Given the description of an element on the screen output the (x, y) to click on. 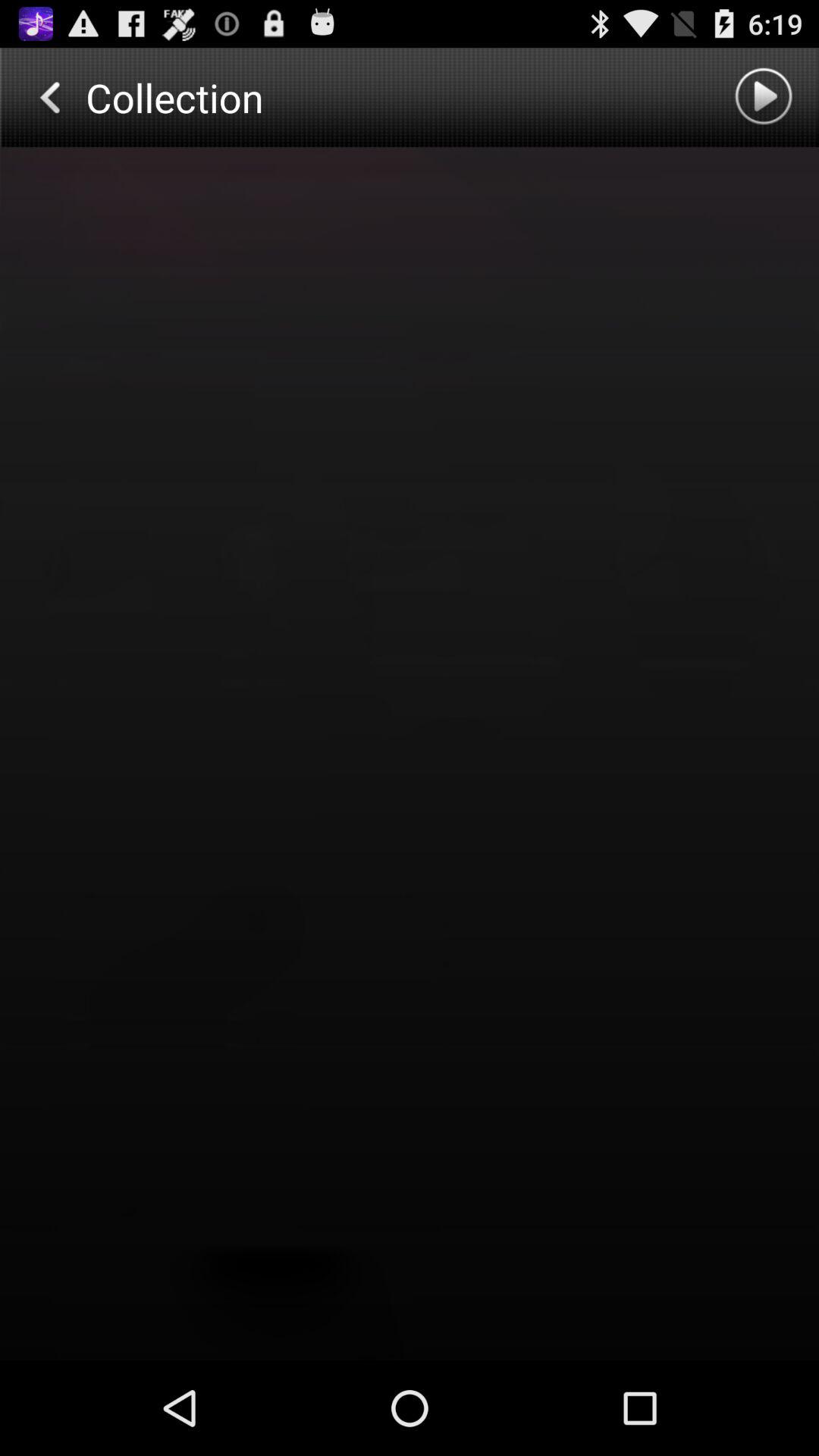
here is your collection (409, 753)
